Given the description of an element on the screen output the (x, y) to click on. 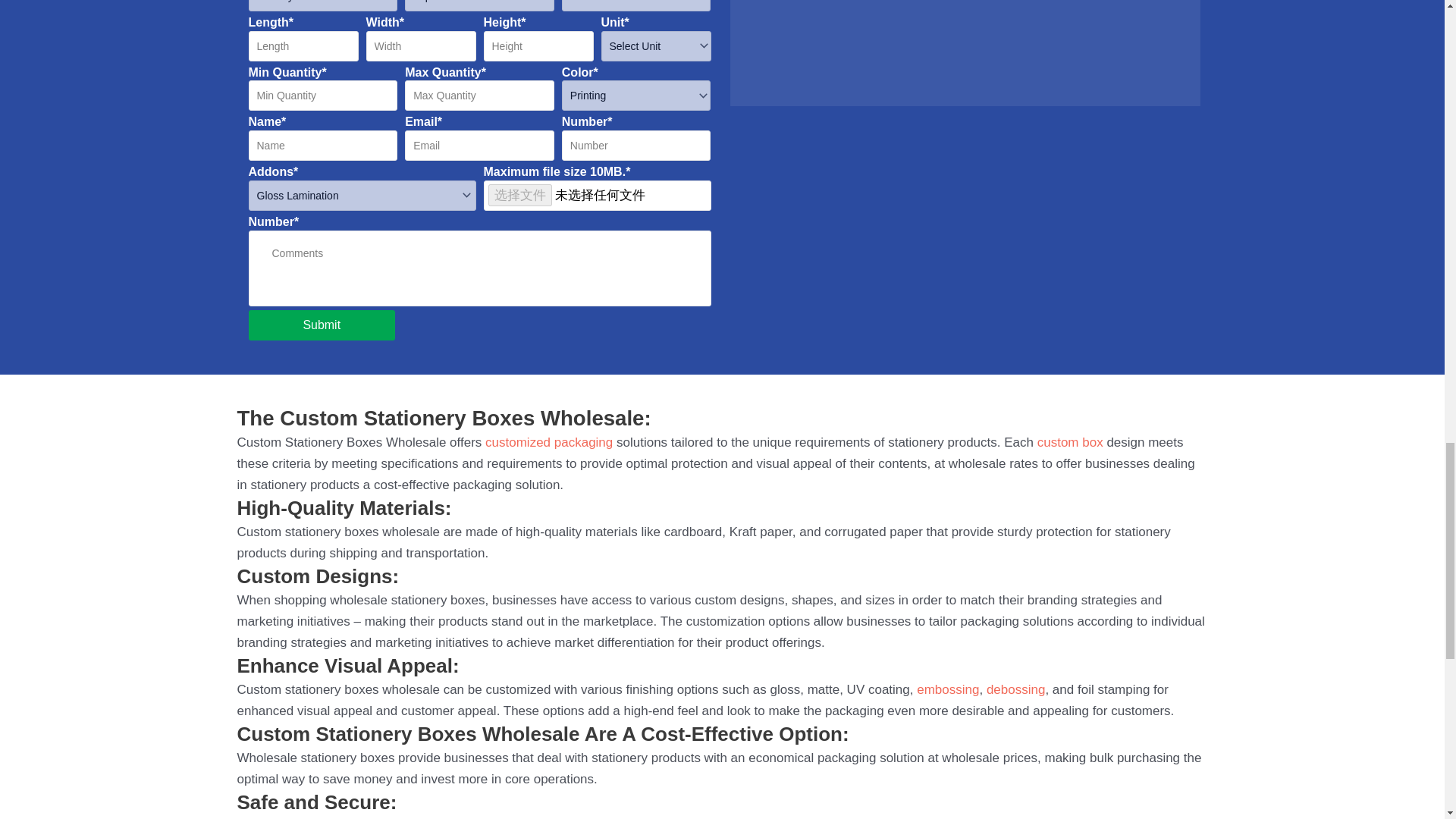
Submit (322, 325)
